Given the description of an element on the screen output the (x, y) to click on. 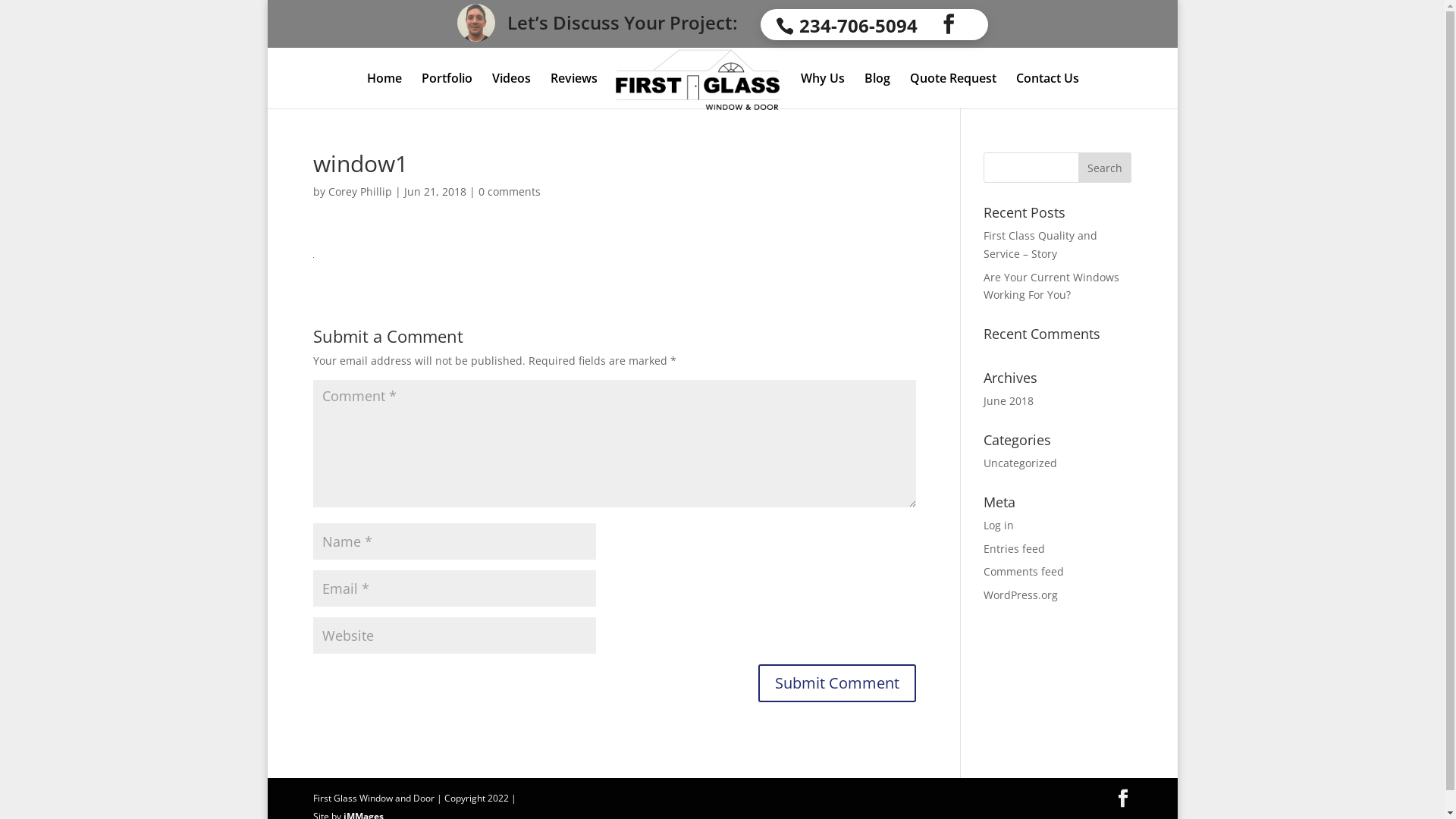
Search Element type: text (1104, 167)
Videos Element type: text (510, 90)
Are Your Current Windows Working For You? Element type: text (1051, 285)
Why Us Element type: text (822, 90)
Home Element type: text (383, 90)
WordPress.org Element type: text (1020, 594)
0 comments Element type: text (508, 191)
Uncategorized Element type: text (1020, 462)
Portfolio Element type: text (445, 90)
Comments feed Element type: text (1023, 571)
Contact Us Element type: text (1046, 90)
Log in Element type: text (998, 524)
Corey Phillip Element type: text (359, 191)
Submit Comment Element type: text (837, 683)
234-706-5094 Element type: text (851, 24)
Quote Request Element type: text (952, 90)
Reviews Element type: text (572, 90)
Blog Element type: text (876, 90)
Entries feed Element type: text (1013, 548)
June 2018 Element type: text (1008, 400)
